Given the description of an element on the screen output the (x, y) to click on. 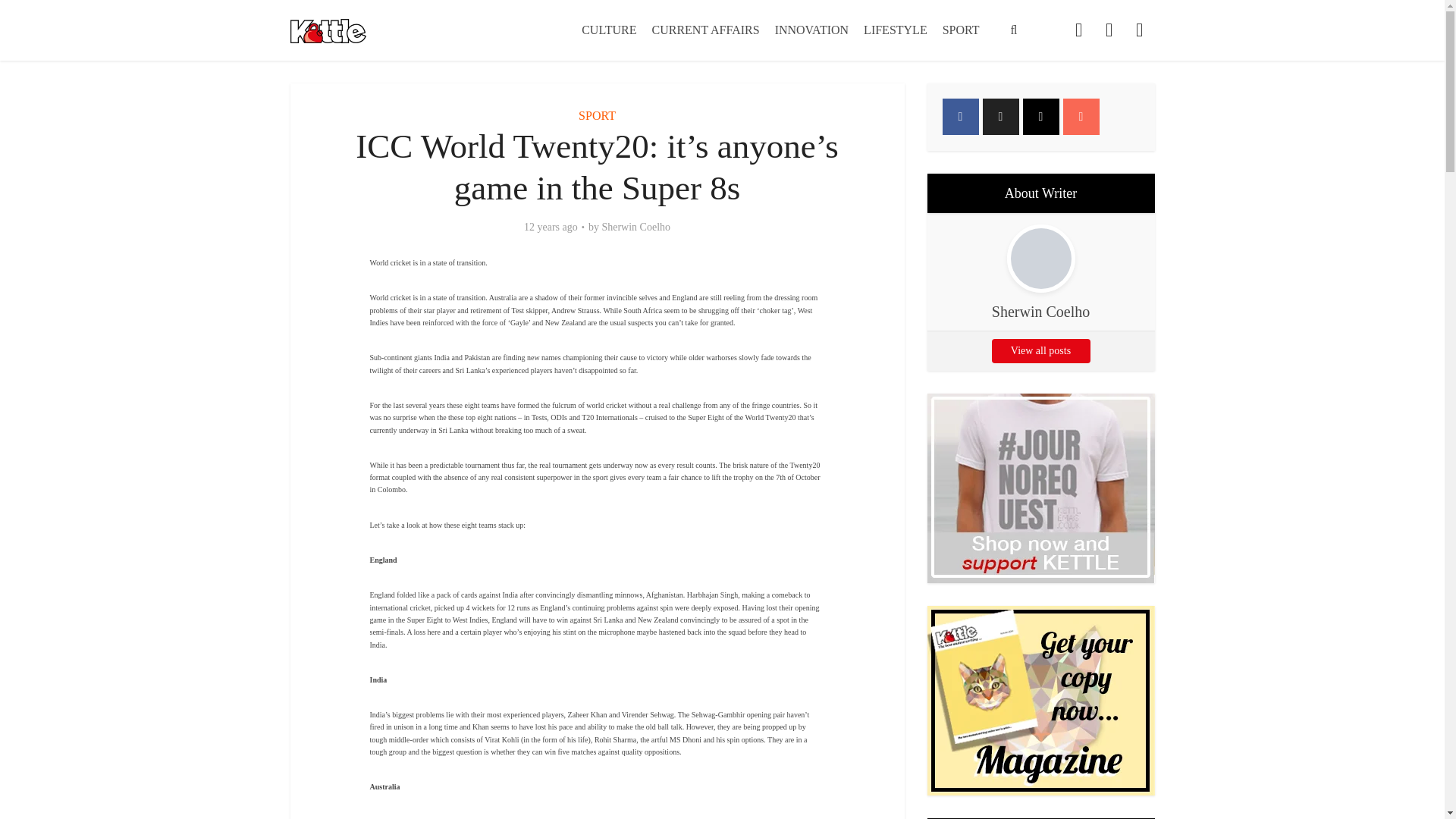
Instagram (1040, 116)
Sherwin Coelho (635, 227)
LIFESTYLE (895, 30)
CURRENT AFFAIRS (706, 30)
Facebook (960, 116)
CULTURE (608, 30)
INNOVATION (811, 30)
SPORT (596, 115)
